Given the description of an element on the screen output the (x, y) to click on. 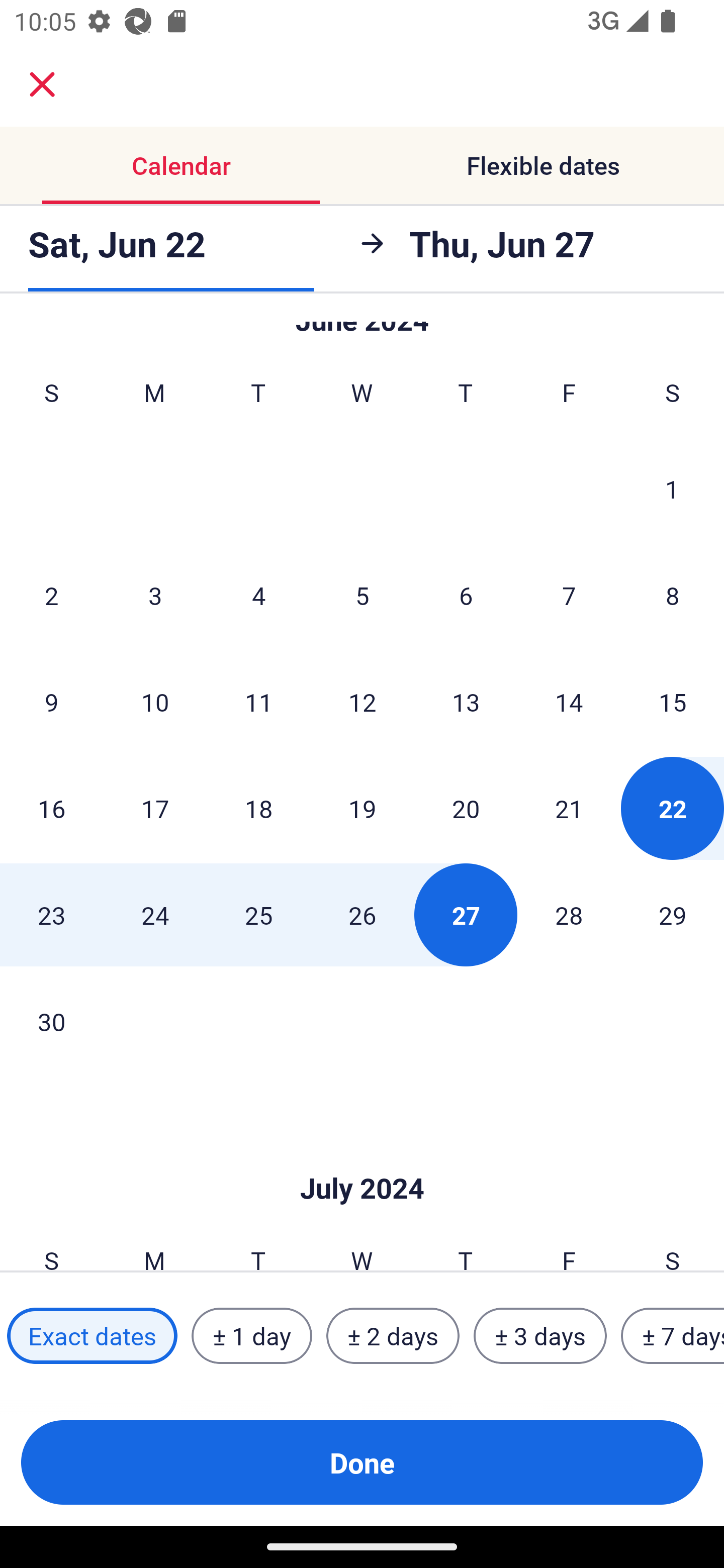
close. (42, 84)
Flexible dates (542, 164)
1 Saturday, June 1, 2024 (672, 488)
2 Sunday, June 2, 2024 (51, 595)
3 Monday, June 3, 2024 (155, 595)
4 Tuesday, June 4, 2024 (258, 595)
5 Wednesday, June 5, 2024 (362, 595)
6 Thursday, June 6, 2024 (465, 595)
7 Friday, June 7, 2024 (569, 595)
8 Saturday, June 8, 2024 (672, 595)
9 Sunday, June 9, 2024 (51, 701)
10 Monday, June 10, 2024 (155, 701)
11 Tuesday, June 11, 2024 (258, 701)
12 Wednesday, June 12, 2024 (362, 701)
13 Thursday, June 13, 2024 (465, 701)
14 Friday, June 14, 2024 (569, 701)
15 Saturday, June 15, 2024 (672, 701)
16 Sunday, June 16, 2024 (51, 808)
17 Monday, June 17, 2024 (155, 808)
18 Tuesday, June 18, 2024 (258, 808)
19 Wednesday, June 19, 2024 (362, 808)
20 Thursday, June 20, 2024 (465, 808)
21 Friday, June 21, 2024 (569, 808)
28 Friday, June 28, 2024 (569, 914)
29 Saturday, June 29, 2024 (672, 914)
30 Sunday, June 30, 2024 (51, 1021)
Skip to Done (362, 1158)
Exact dates (92, 1335)
± 1 day (251, 1335)
± 2 days (392, 1335)
± 3 days (539, 1335)
± 7 days (672, 1335)
Done (361, 1462)
